Given the description of an element on the screen output the (x, y) to click on. 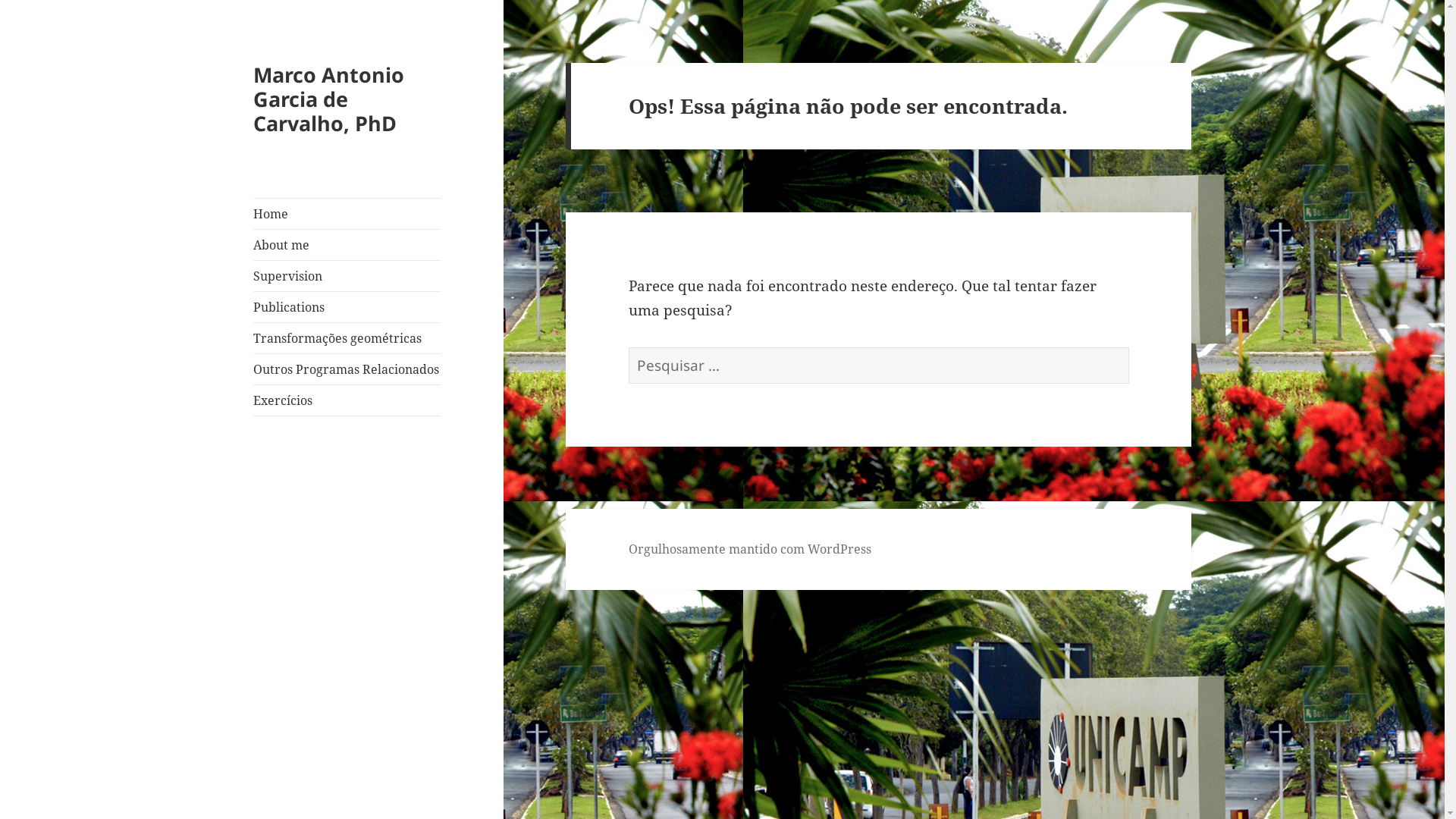
About me Element type: text (347, 244)
Home Element type: text (347, 213)
Orgulhosamente mantido com WordPress Element type: text (749, 549)
Outros Programas Relacionados Element type: text (347, 369)
Publications Element type: text (347, 306)
Marco Antonio Garcia de Carvalho, PhD Element type: text (328, 98)
Supervision Element type: text (347, 275)
